Given the description of an element on the screen output the (x, y) to click on. 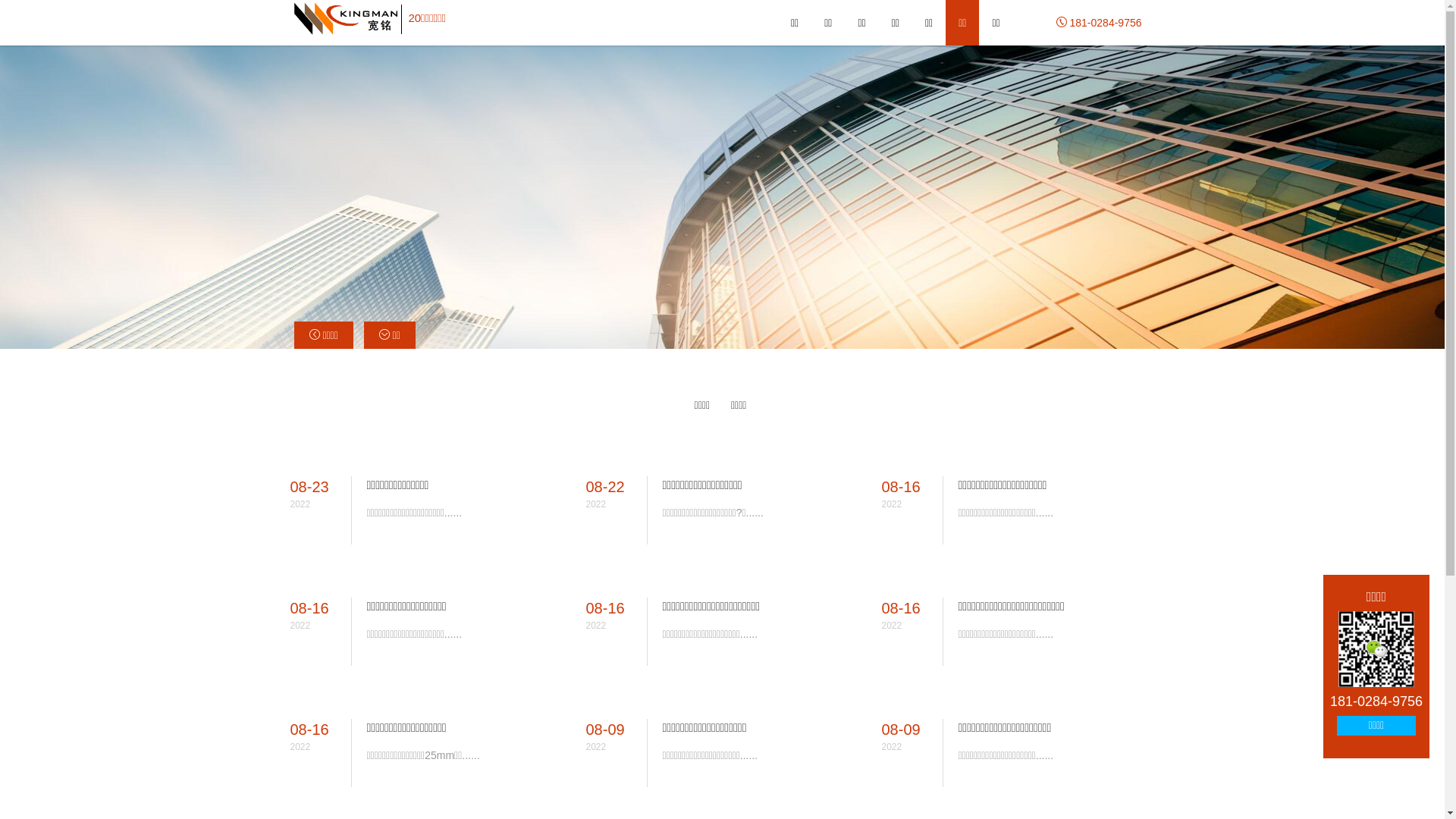
181-0284-9756 Element type: text (1099, 22)
